Given the description of an element on the screen output the (x, y) to click on. 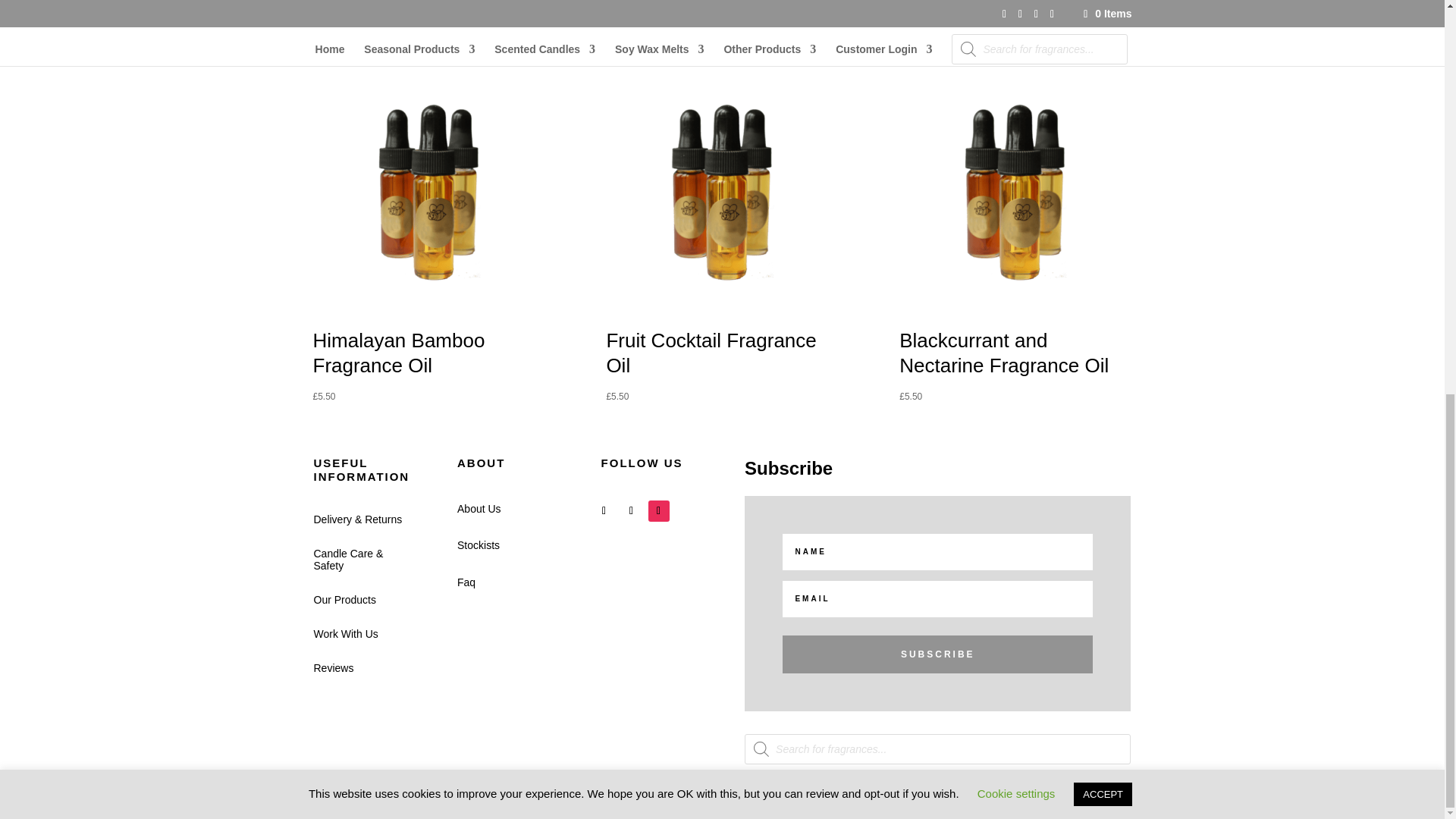
Follow on Instagram (658, 510)
Follow on Facebook (604, 510)
Follow on X (631, 510)
